Given the description of an element on the screen output the (x, y) to click on. 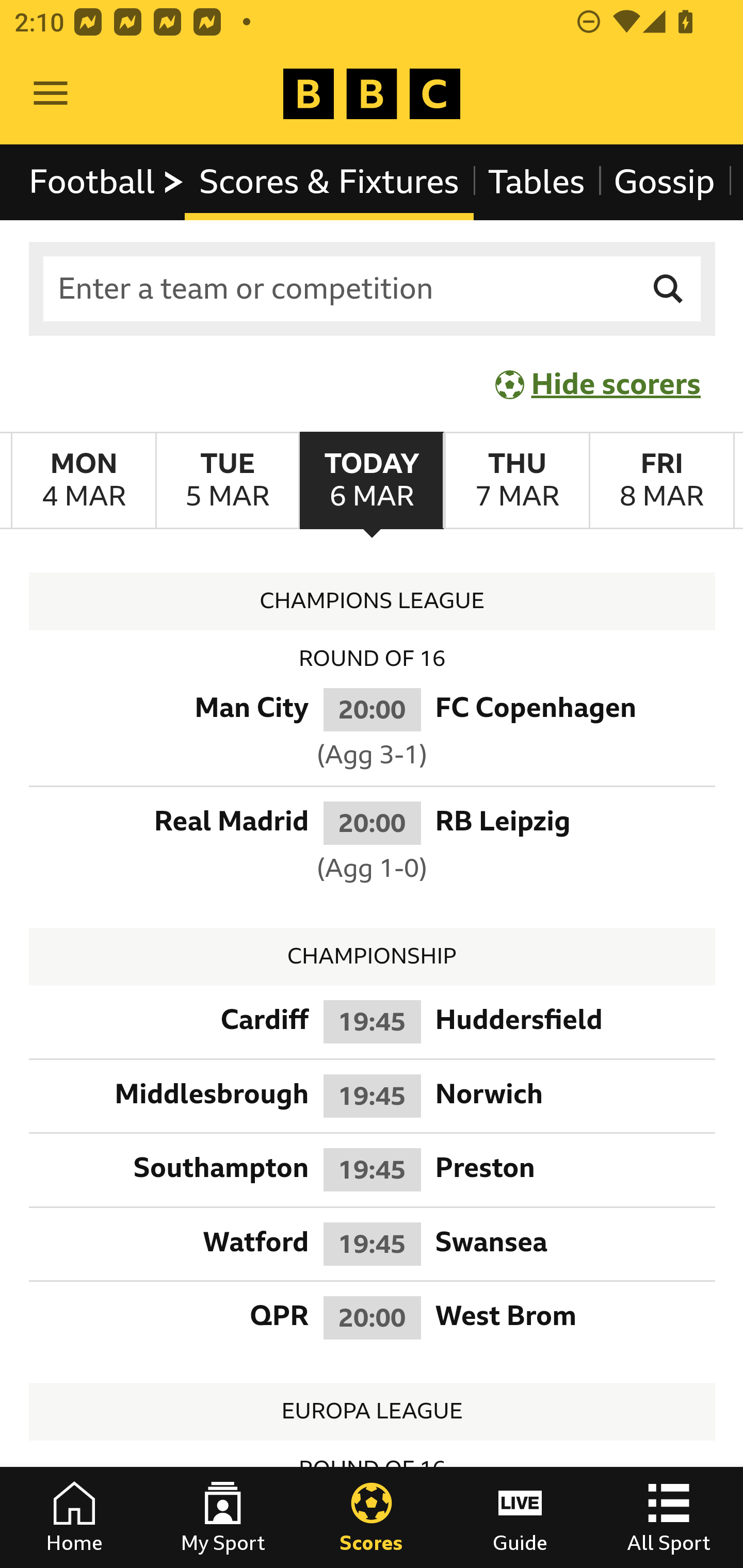
Open Menu (50, 93)
Football  (106, 181)
Scores & Fixtures (329, 181)
Tables (536, 181)
Gossip (664, 181)
Search (669, 289)
Hide scorers (598, 383)
MondayMarch 4th Monday March 4th (83, 480)
TuesdayMarch 5th Tuesday March 5th (227, 480)
ThursdayMarch 7th Thursday March 7th (516, 480)
FridayMarch 8th Friday March 8th (661, 480)
Home (74, 1517)
My Sport (222, 1517)
Guide (519, 1517)
All Sport (668, 1517)
